Given the description of an element on the screen output the (x, y) to click on. 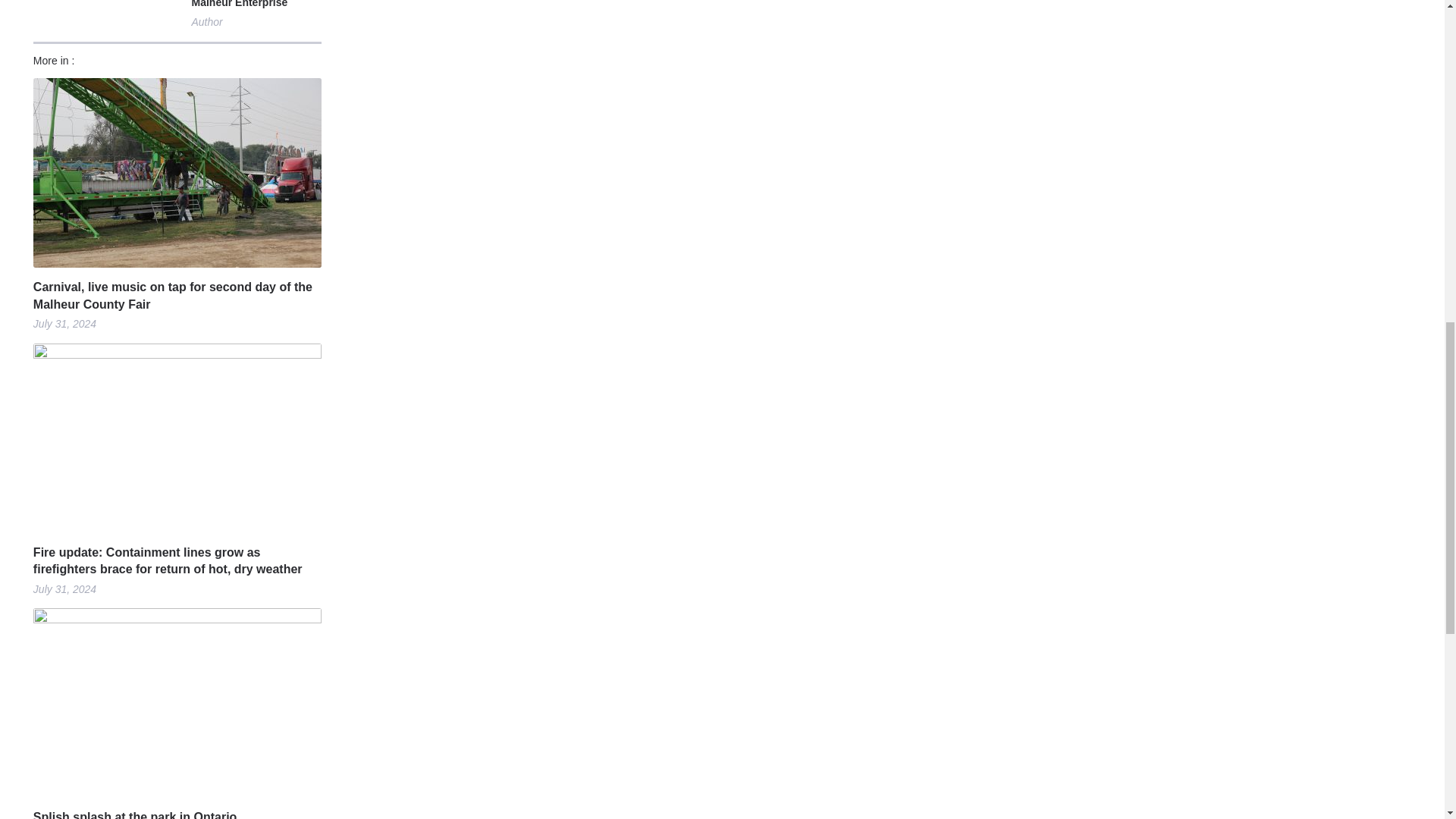
Permalink to Splish splash at the park in Ontario (177, 814)
Posts by Malheur Enterprise (238, 6)
Splish splash at the park in Ontario (177, 814)
Permalink to Splish splash at the park in Ontario (177, 702)
